Given the description of an element on the screen output the (x, y) to click on. 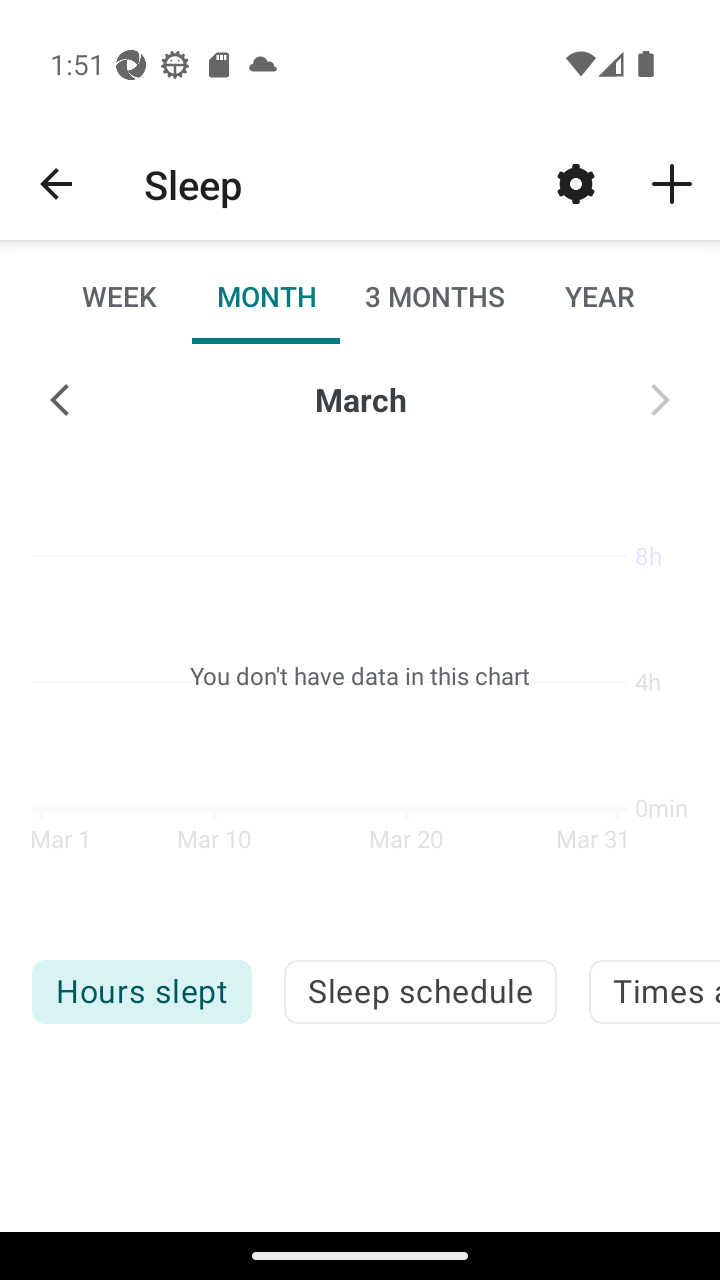
Navigate up (56, 184)
Adjust your goal (575, 183)
Tap to track sleep or
 log a past record (672, 183)
WEEK (120, 296)
3 MONTHS (433, 296)
YEAR (599, 296)
Previous (60, 399)
Next (659, 399)
Hours slept (141, 991)
Sleep schedule (420, 991)
Times awakened (654, 991)
